Given the description of an element on the screen output the (x, y) to click on. 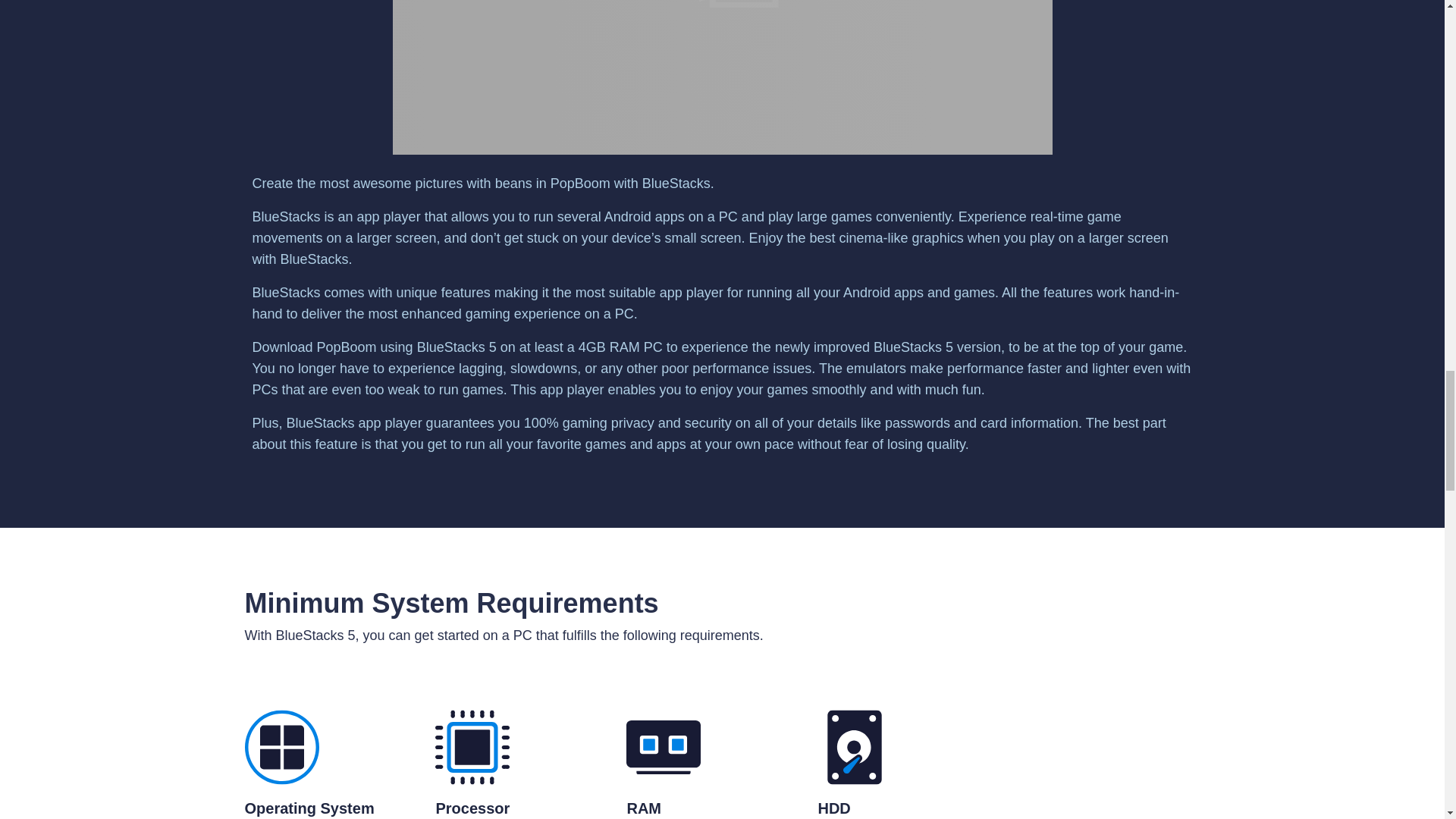
how-to-play-steps - desktop (722, 77)
